Given the description of an element on the screen output the (x, y) to click on. 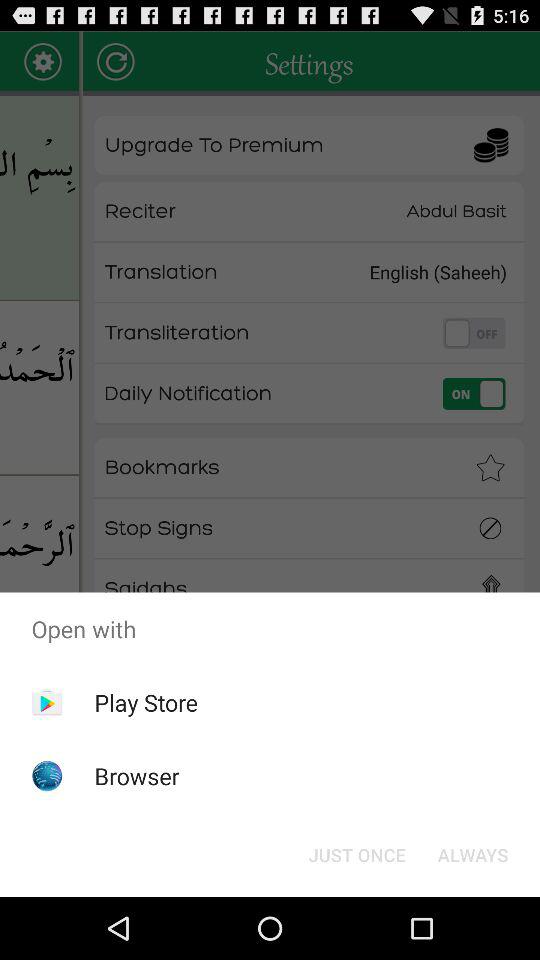
click item below the open with app (146, 702)
